Given the description of an element on the screen output the (x, y) to click on. 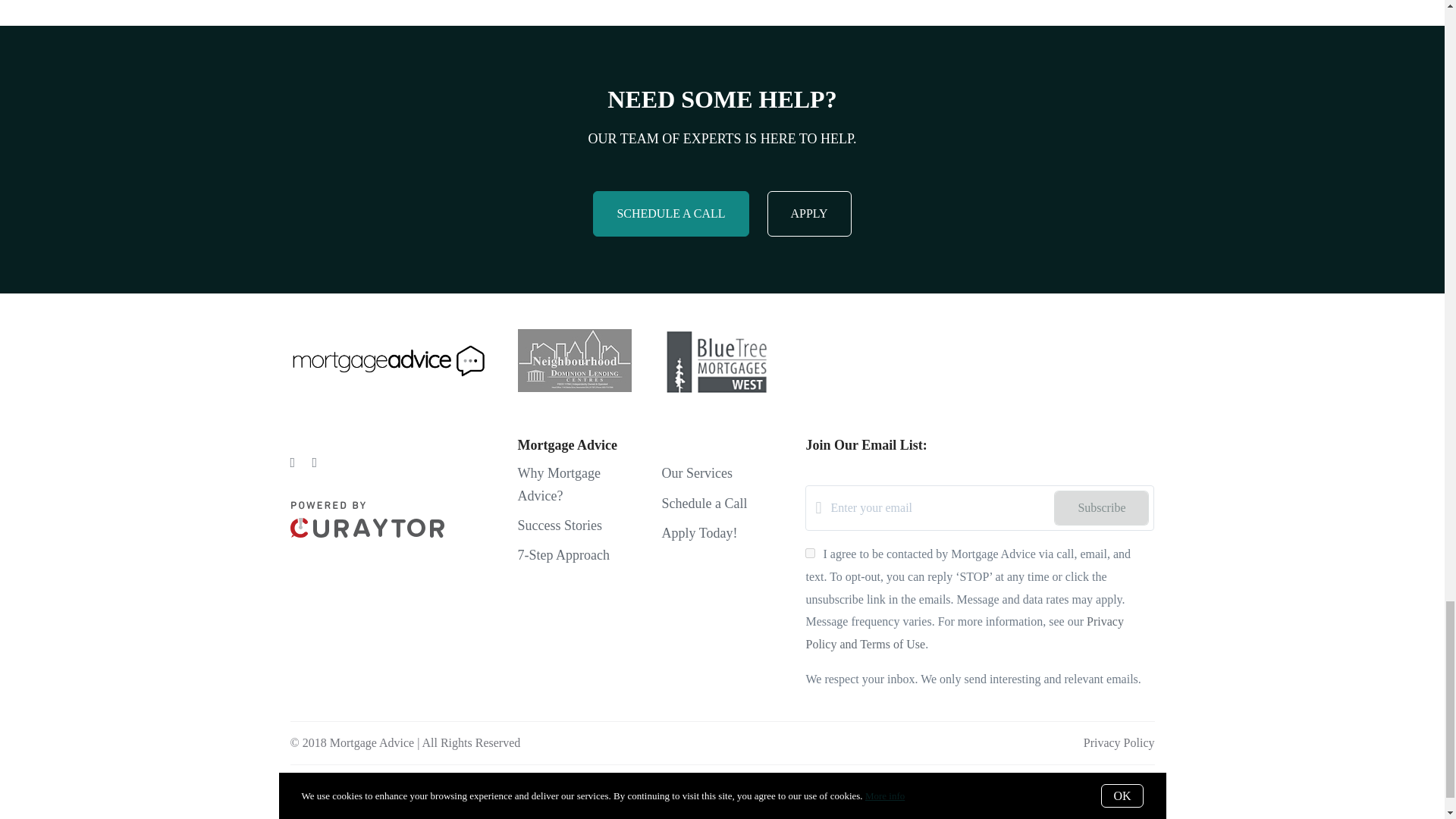
curaytor-horizontal (366, 519)
APPLY (809, 213)
on (810, 552)
SCHEDULE A CALL (670, 213)
